Given the description of an element on the screen output the (x, y) to click on. 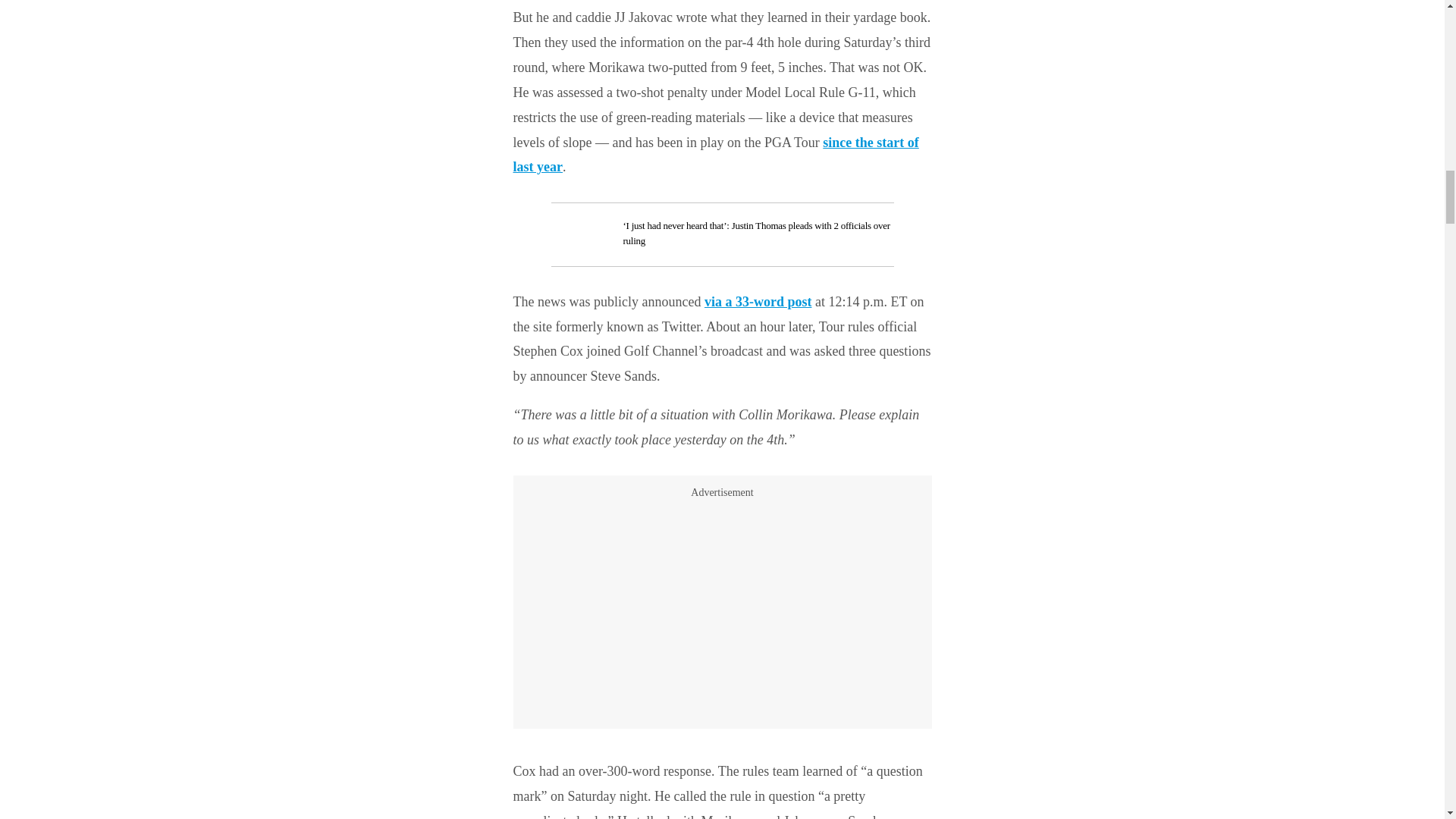
since the start of last year (715, 155)
via a 33-word post (758, 301)
